Given the description of an element on the screen output the (x, y) to click on. 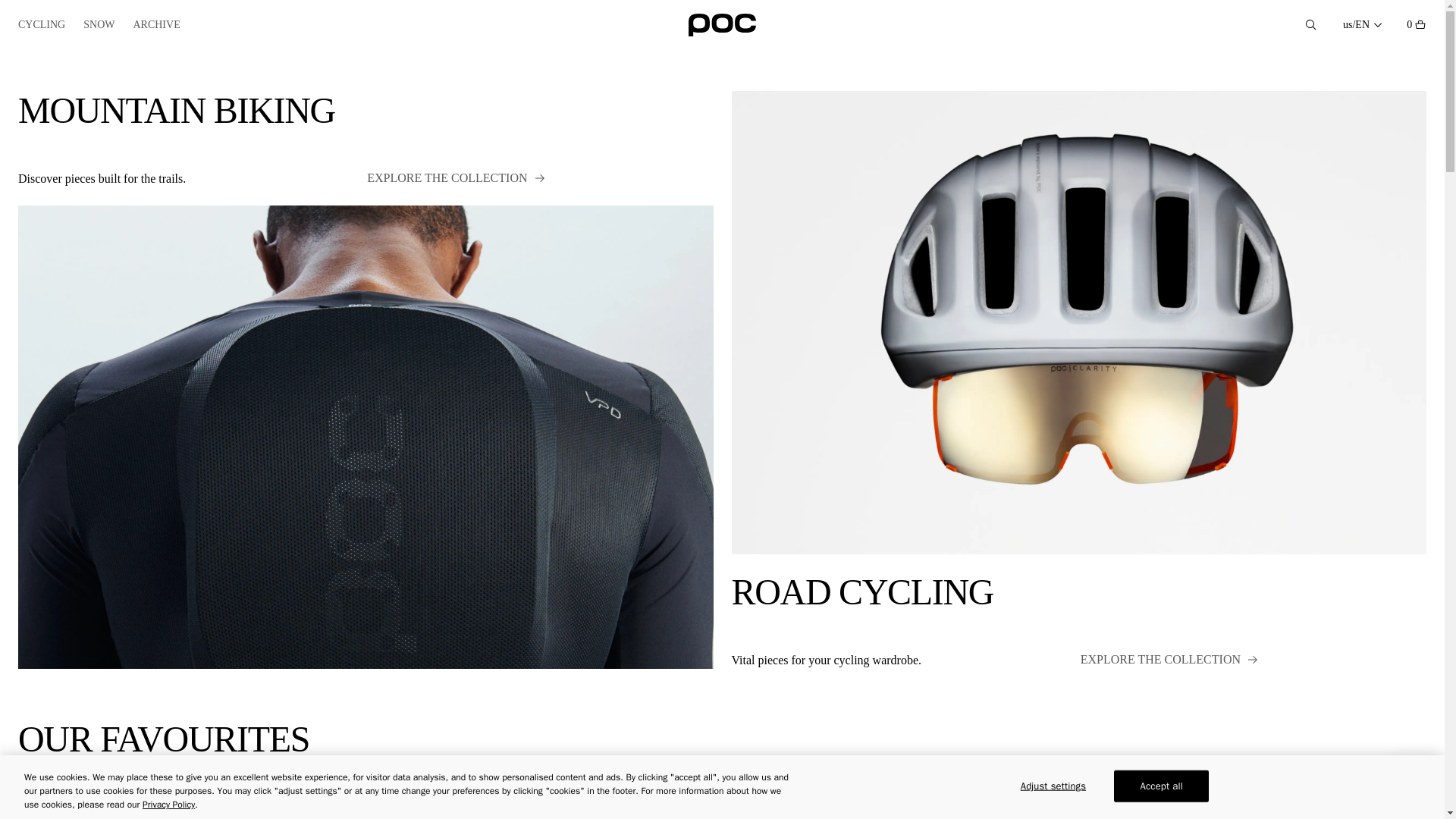
ARCHIVE (156, 24)
ARCHIVE (155, 24)
EXPLORE THE COLLECTION (1169, 659)
CYCLING (41, 24)
EXPLORE THE COLLECTION (794, 798)
SNOW (455, 177)
CYCLING (1107, 798)
